Given the description of an element on the screen output the (x, y) to click on. 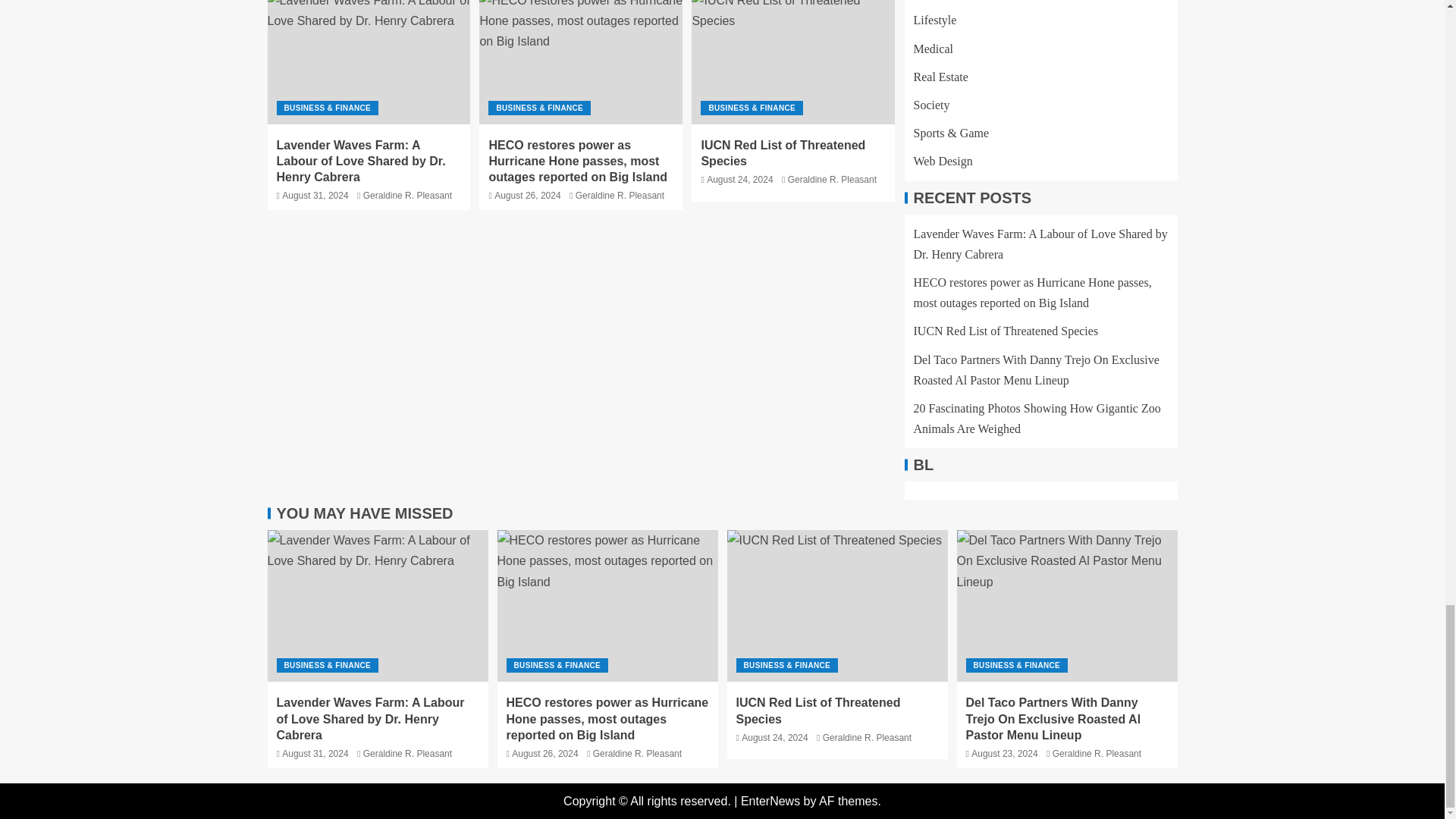
IUCN Red List of Threatened Species (793, 62)
